Given the description of an element on the screen output the (x, y) to click on. 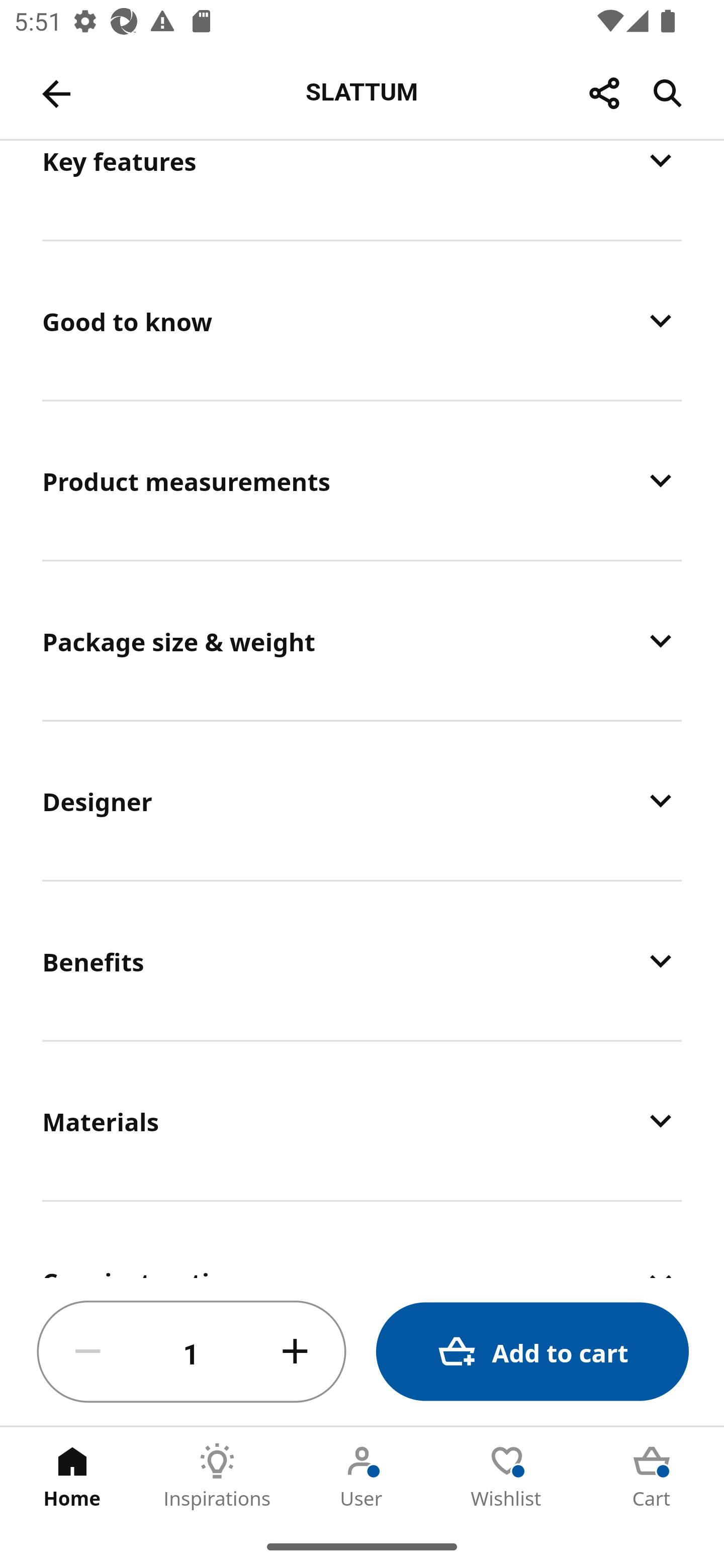
Key features (361, 189)
Good to know (361, 320)
Product measurements (361, 480)
Package size & weight (361, 640)
Designer (361, 800)
Benefits (361, 960)
Materials (361, 1119)
Add to cart (531, 1352)
1 (191, 1352)
Home
Tab 1 of 5 (72, 1476)
Inspirations
Tab 2 of 5 (216, 1476)
User
Tab 3 of 5 (361, 1476)
Wishlist
Tab 4 of 5 (506, 1476)
Cart
Tab 5 of 5 (651, 1476)
